Given the description of an element on the screen output the (x, y) to click on. 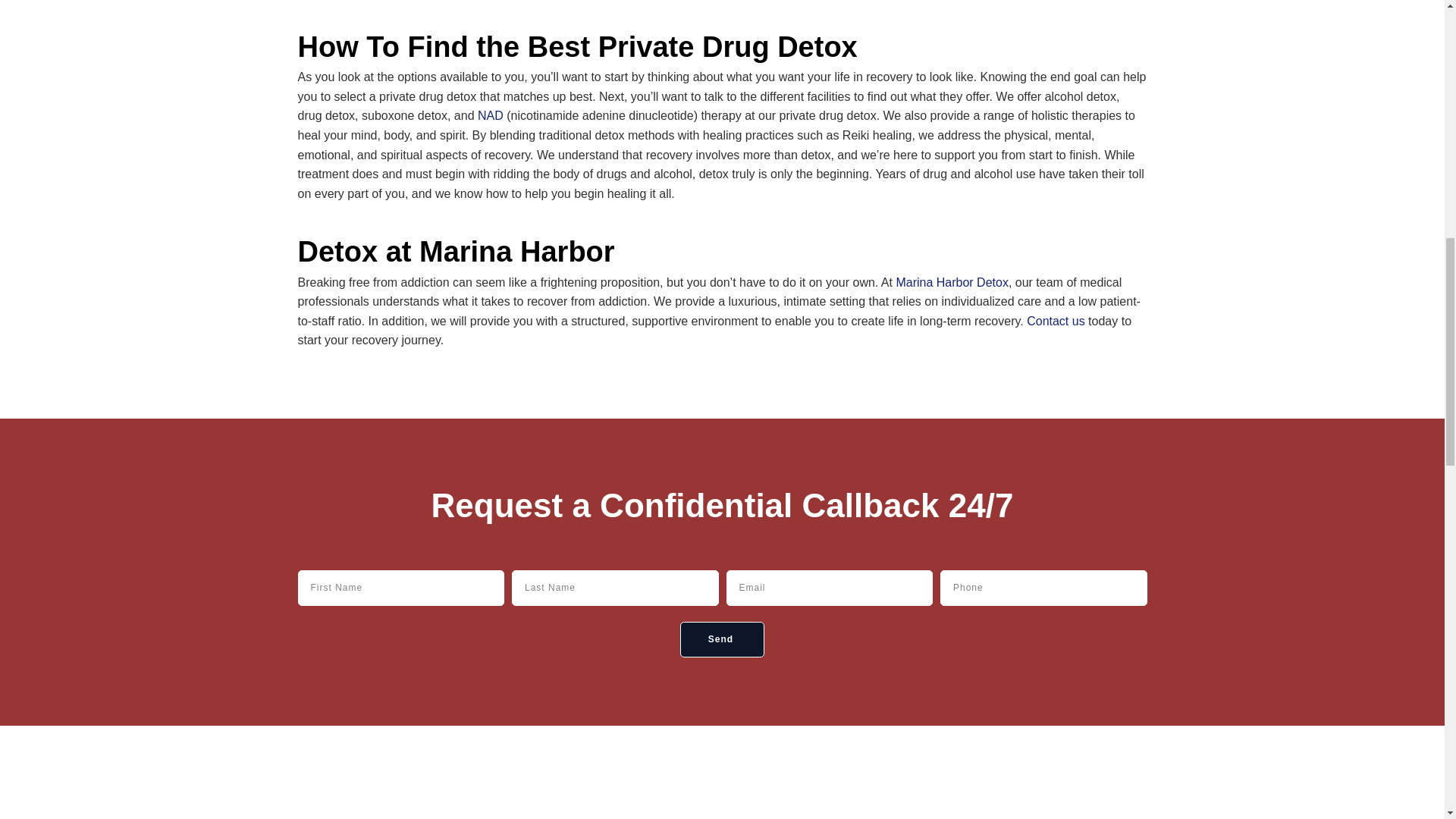
Send (721, 639)
Marina Harbor Detox (952, 282)
NAD (490, 115)
Contact us (1055, 320)
